Given the description of an element on the screen output the (x, y) to click on. 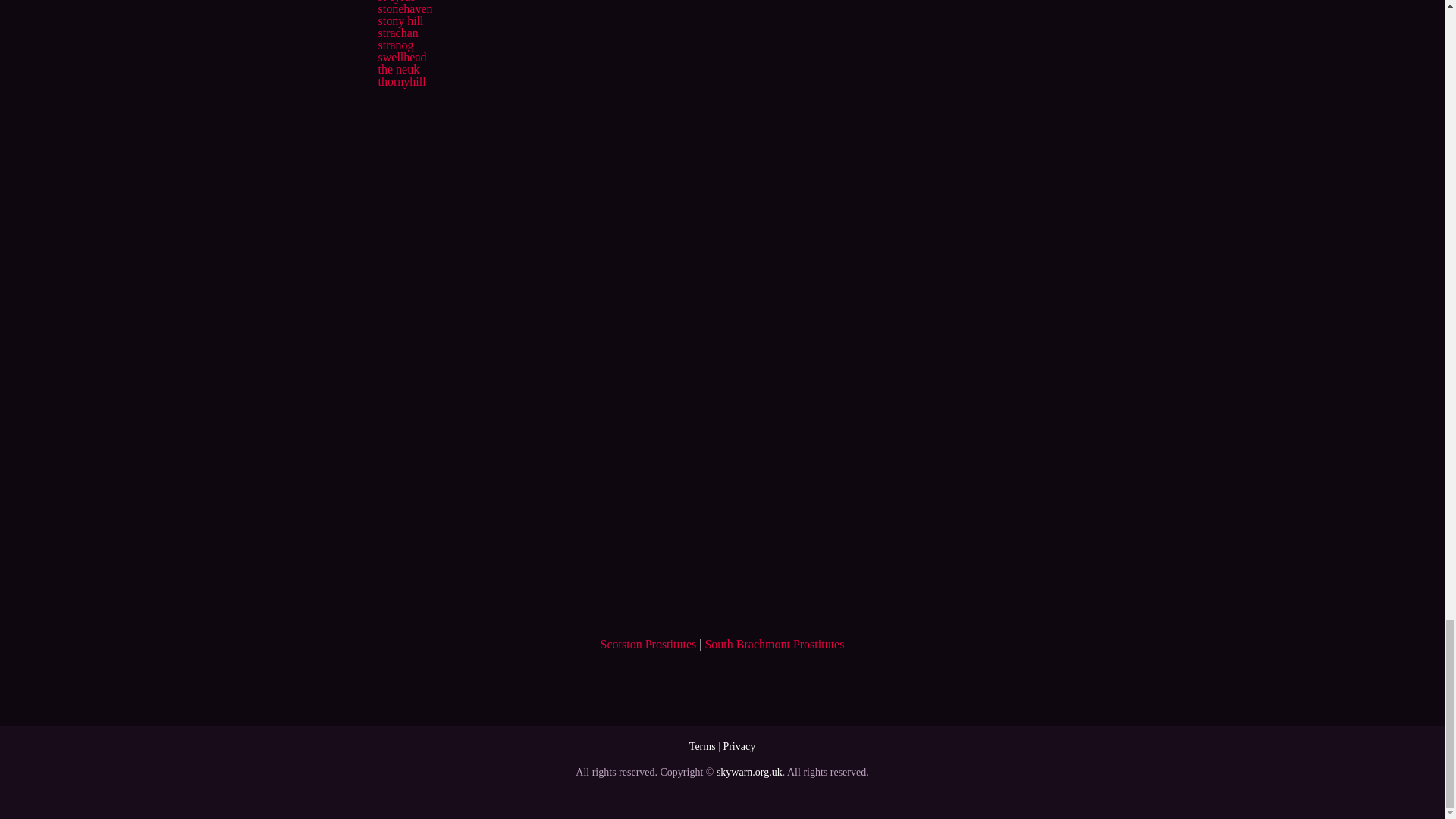
Terms (702, 746)
South Brachmont Prostitutes (774, 644)
Terms (702, 746)
swellhead (401, 56)
Privacy (738, 746)
the neuk (398, 69)
stonehaven (404, 8)
thornyhill (401, 81)
stony hill (400, 20)
stranog (395, 44)
